Given the description of an element on the screen output the (x, y) to click on. 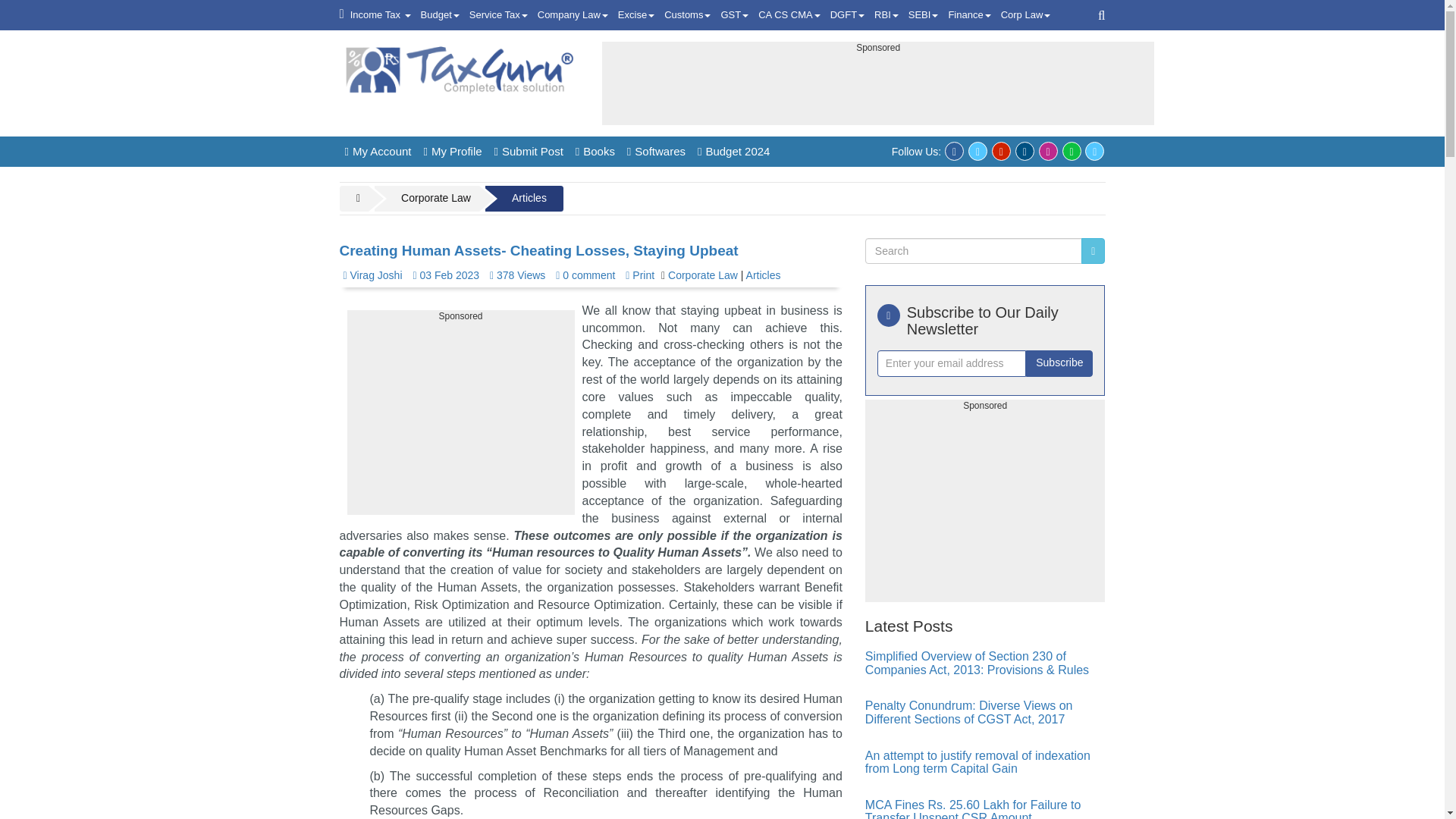
Union Budget 2024 Article News Notifications (439, 15)
Company Law (572, 15)
Excise (636, 15)
Customs (687, 15)
Service Tax Article News Notifications Judgments (498, 15)
Budget (439, 15)
Income Tax Related Information (380, 15)
Service Tax (498, 15)
Income Tax (380, 15)
